Given the description of an element on the screen output the (x, y) to click on. 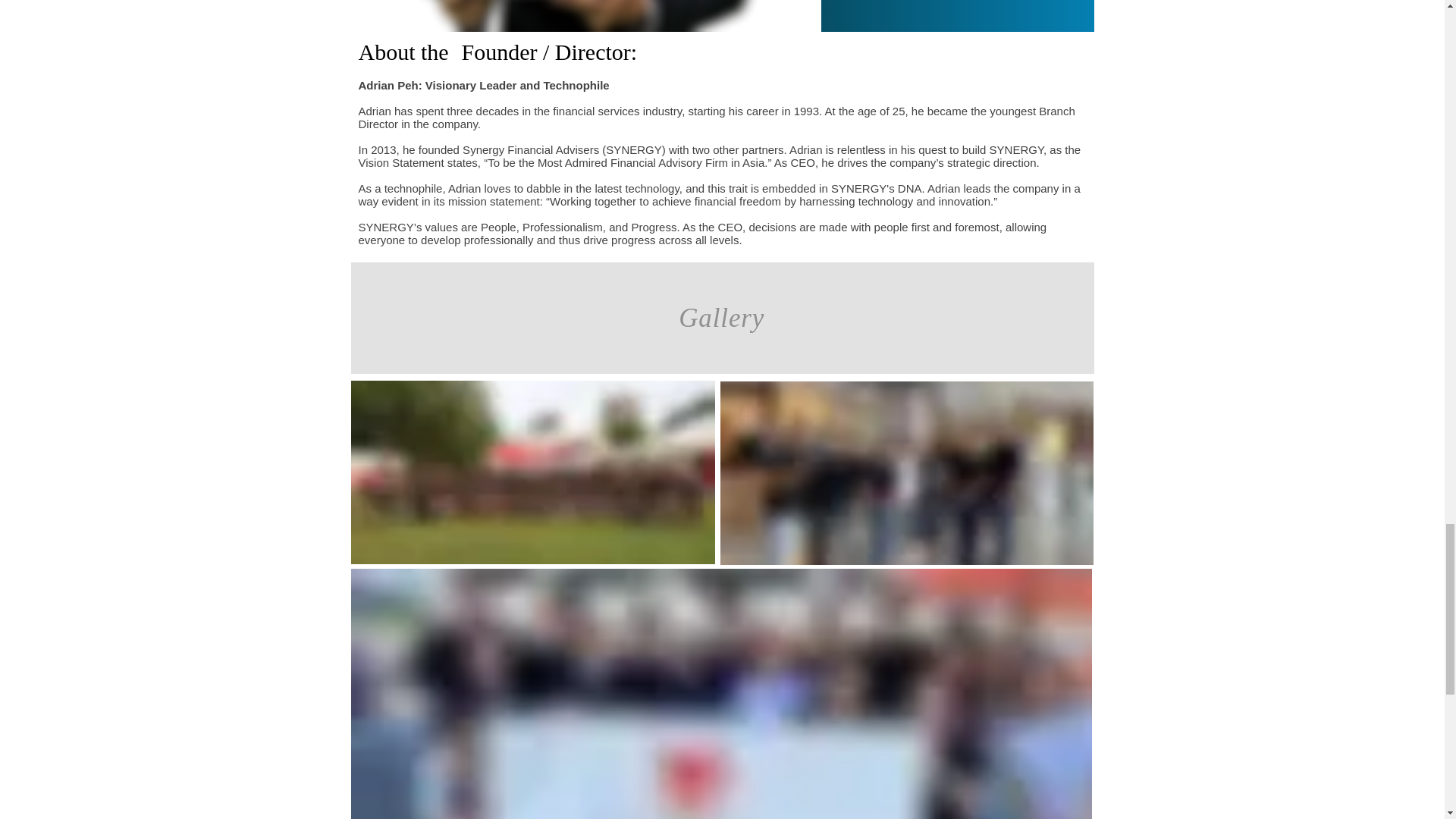
Synergy (906, 473)
SYNERGY-3 Web.png (582, 15)
Synergy (532, 472)
Gallery (721, 317)
